Given the description of an element on the screen output the (x, y) to click on. 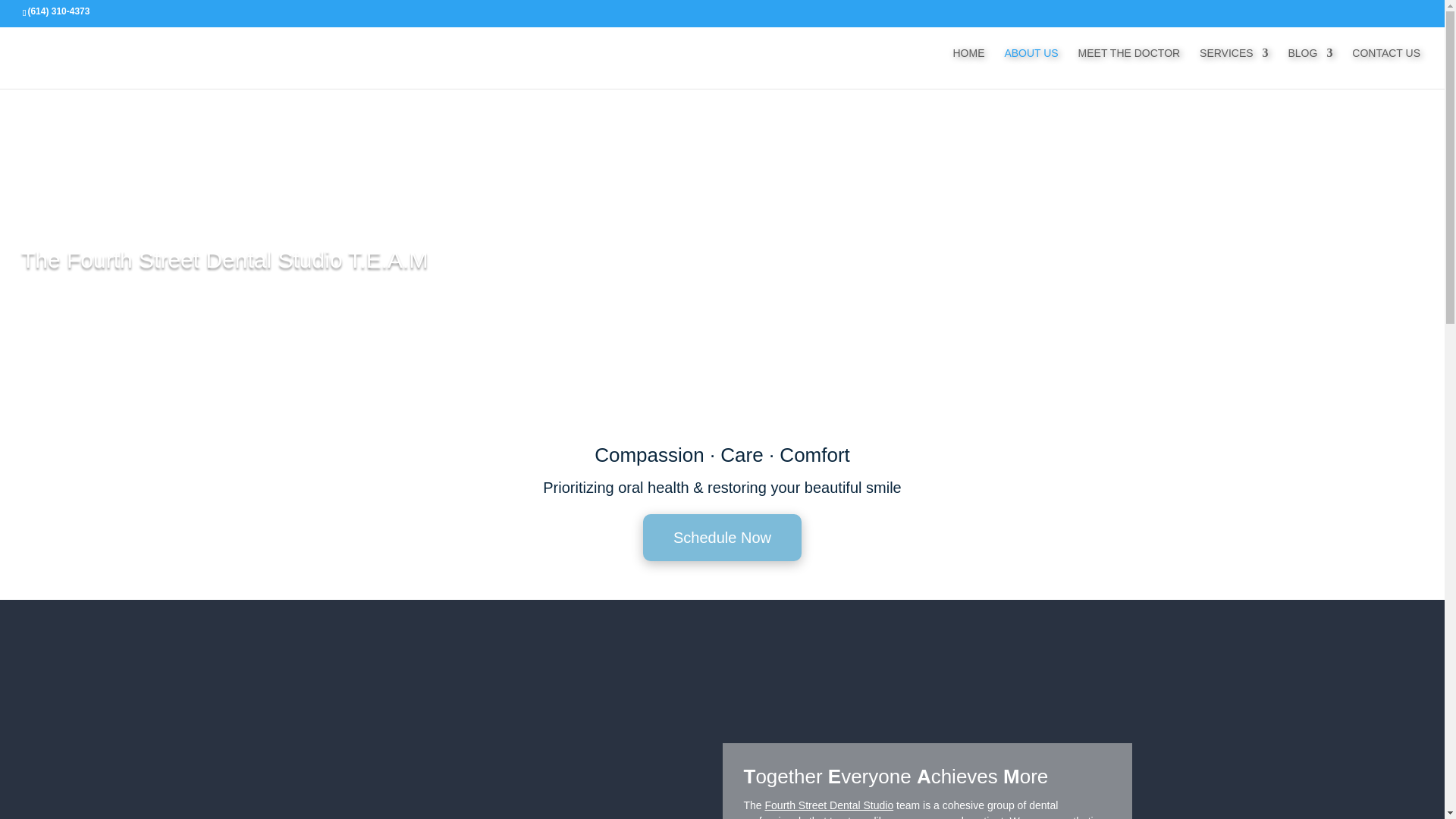
HOME (968, 65)
MEET THE DOCTOR (1129, 65)
SERVICES (1233, 65)
CONTACT US (1386, 65)
ABOUT US (1031, 65)
Schedule Now (722, 537)
BLOG (1309, 65)
Fourth Street Dental Studio (829, 805)
